Given the description of an element on the screen output the (x, y) to click on. 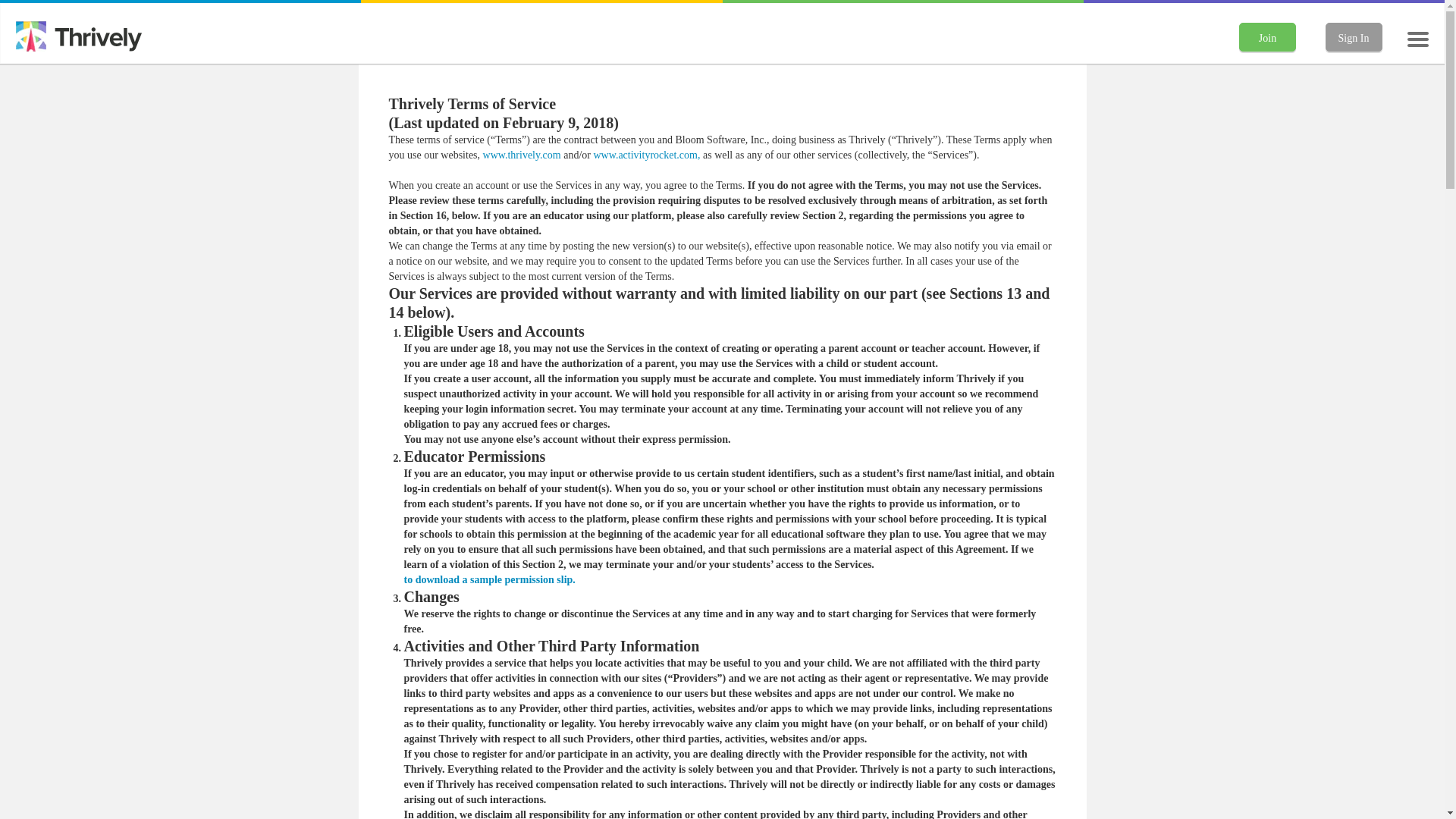
Sign In (1352, 36)
Join (1267, 36)
www.thrively.com (521, 154)
www.activityrocket.com, (646, 154)
to download a sample permission slip. (489, 579)
